Given the description of an element on the screen output the (x, y) to click on. 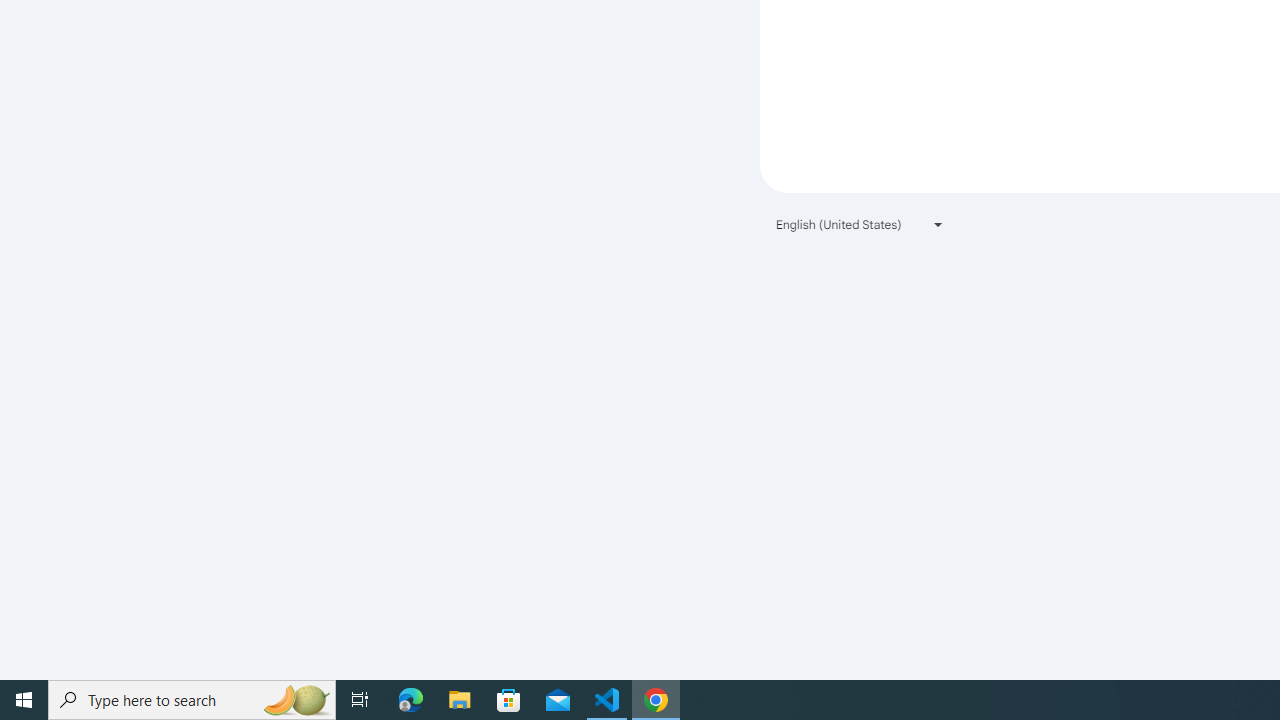
English (United States) (860, 224)
